Given the description of an element on the screen output the (x, y) to click on. 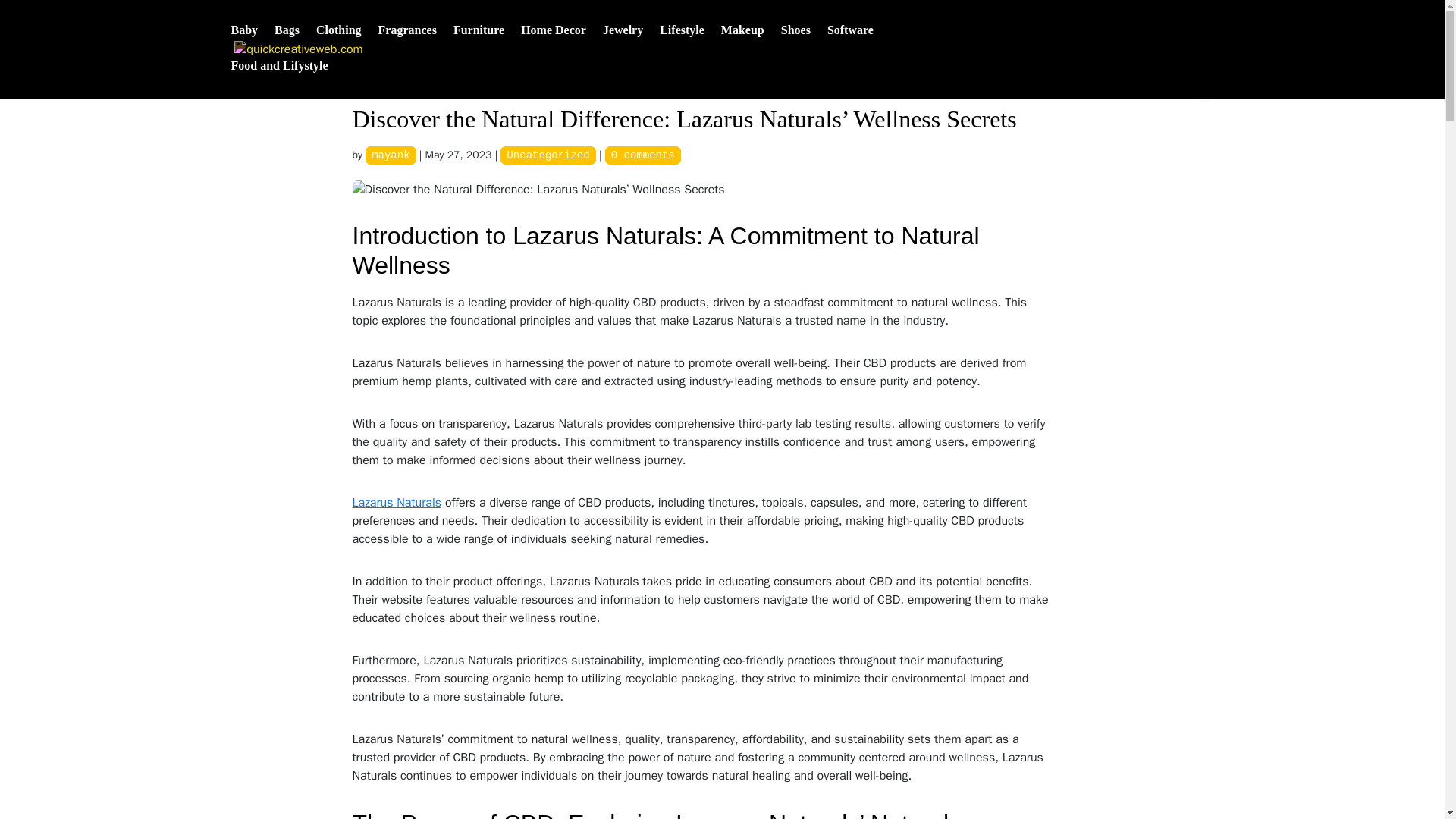
0 comments (643, 155)
Uncategorized (547, 155)
Lifestyle (681, 42)
Furniture (477, 42)
Jewelry (622, 42)
Lazarus Naturals (396, 502)
Fragrances (407, 42)
Home Decor (553, 42)
Posts by mayank (389, 155)
Makeup (742, 42)
